Given the description of an element on the screen output the (x, y) to click on. 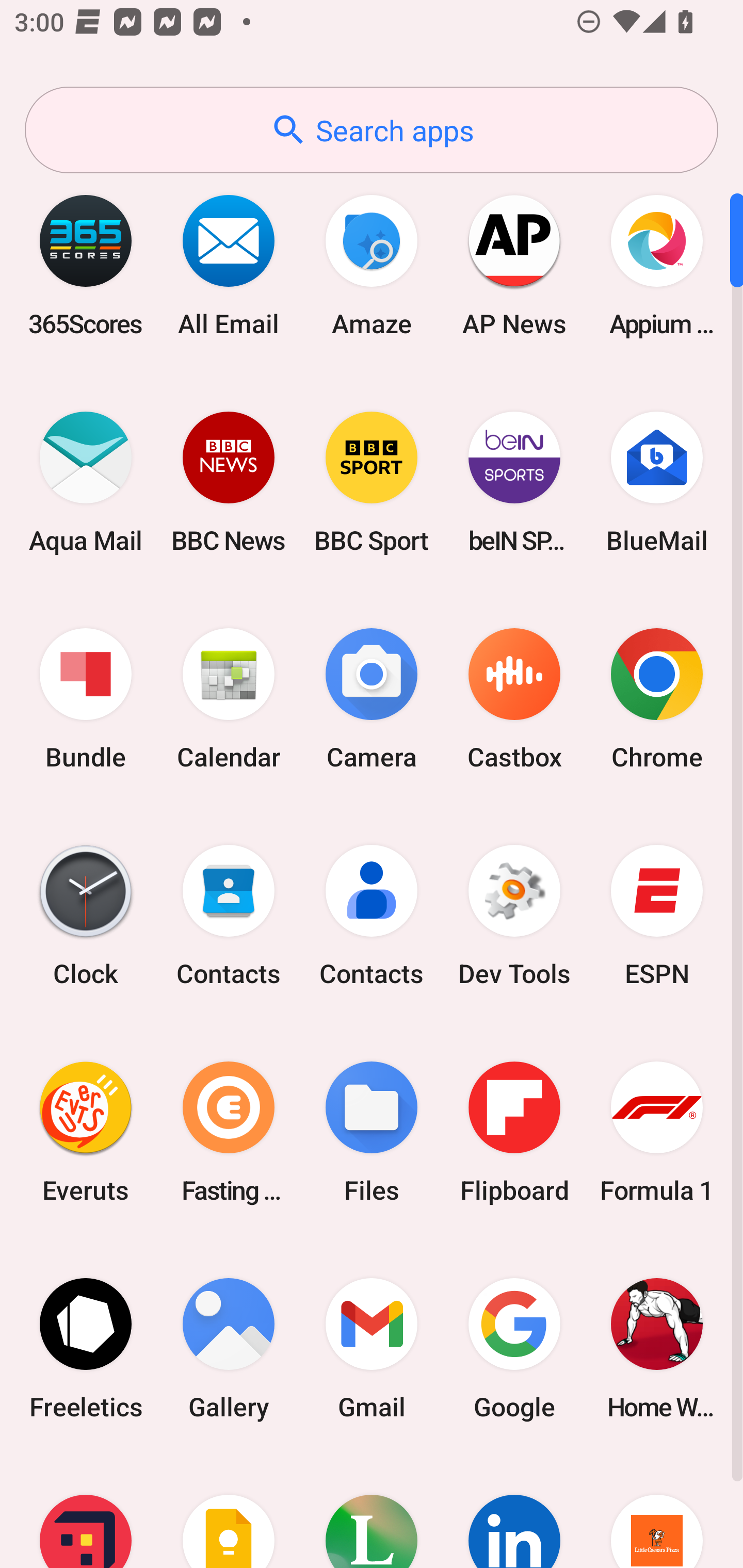
  Search apps (371, 130)
365Scores (85, 264)
All Email (228, 264)
Amaze (371, 264)
AP News (514, 264)
Appium Settings (656, 264)
Aqua Mail (85, 482)
BBC News (228, 482)
BBC Sport (371, 482)
beIN SPORTS (514, 482)
BlueMail (656, 482)
Bundle (85, 699)
Calendar (228, 699)
Camera (371, 699)
Castbox (514, 699)
Chrome (656, 699)
Clock (85, 915)
Contacts (228, 915)
Contacts (371, 915)
Dev Tools (514, 915)
ESPN (656, 915)
Everuts (85, 1131)
Fasting Coach (228, 1131)
Files (371, 1131)
Flipboard (514, 1131)
Formula 1 (656, 1131)
Freeletics (85, 1348)
Gallery (228, 1348)
Gmail (371, 1348)
Google (514, 1348)
Home Workout (656, 1348)
Hotels.com (85, 1512)
Keep Notes (228, 1512)
Lifesum (371, 1512)
LinkedIn (514, 1512)
Little Caesars Pizza (656, 1512)
